Given the description of an element on the screen output the (x, y) to click on. 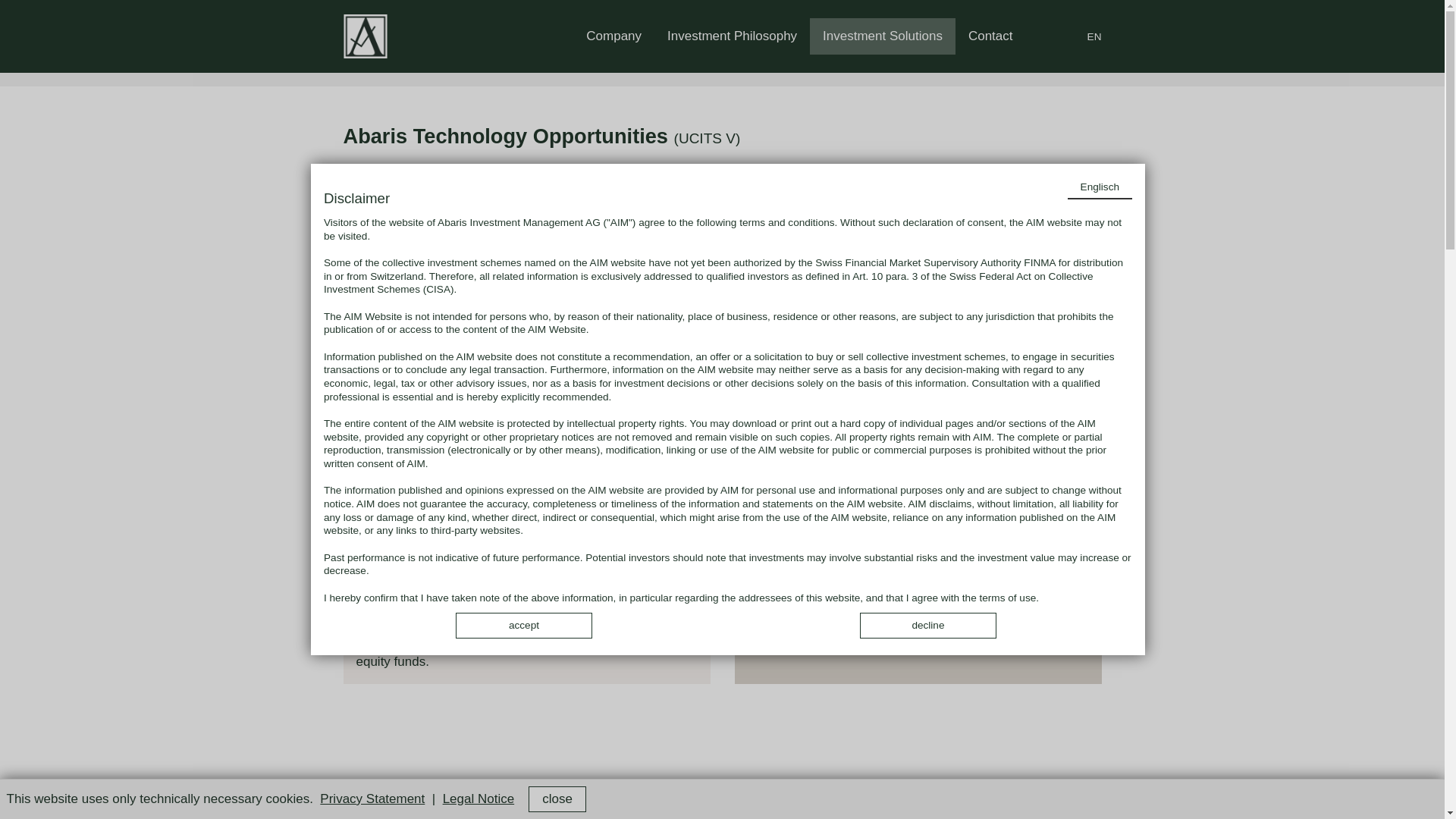
Englisch Element type: text (1099, 187)
EN Element type: text (1094, 36)
Contact Element type: text (990, 36)
Investment Philosophy Element type: text (731, 36)
Zur Startseite Element type: hover (364, 36)
Privacy Statement Element type: text (372, 798)
Investment Solutions Element type: text (882, 36)
close Element type: text (557, 799)
accept Element type: text (523, 625)
Company Element type: text (613, 36)
decline Element type: text (927, 625)
Legal Notice Element type: text (478, 798)
